Given the description of an element on the screen output the (x, y) to click on. 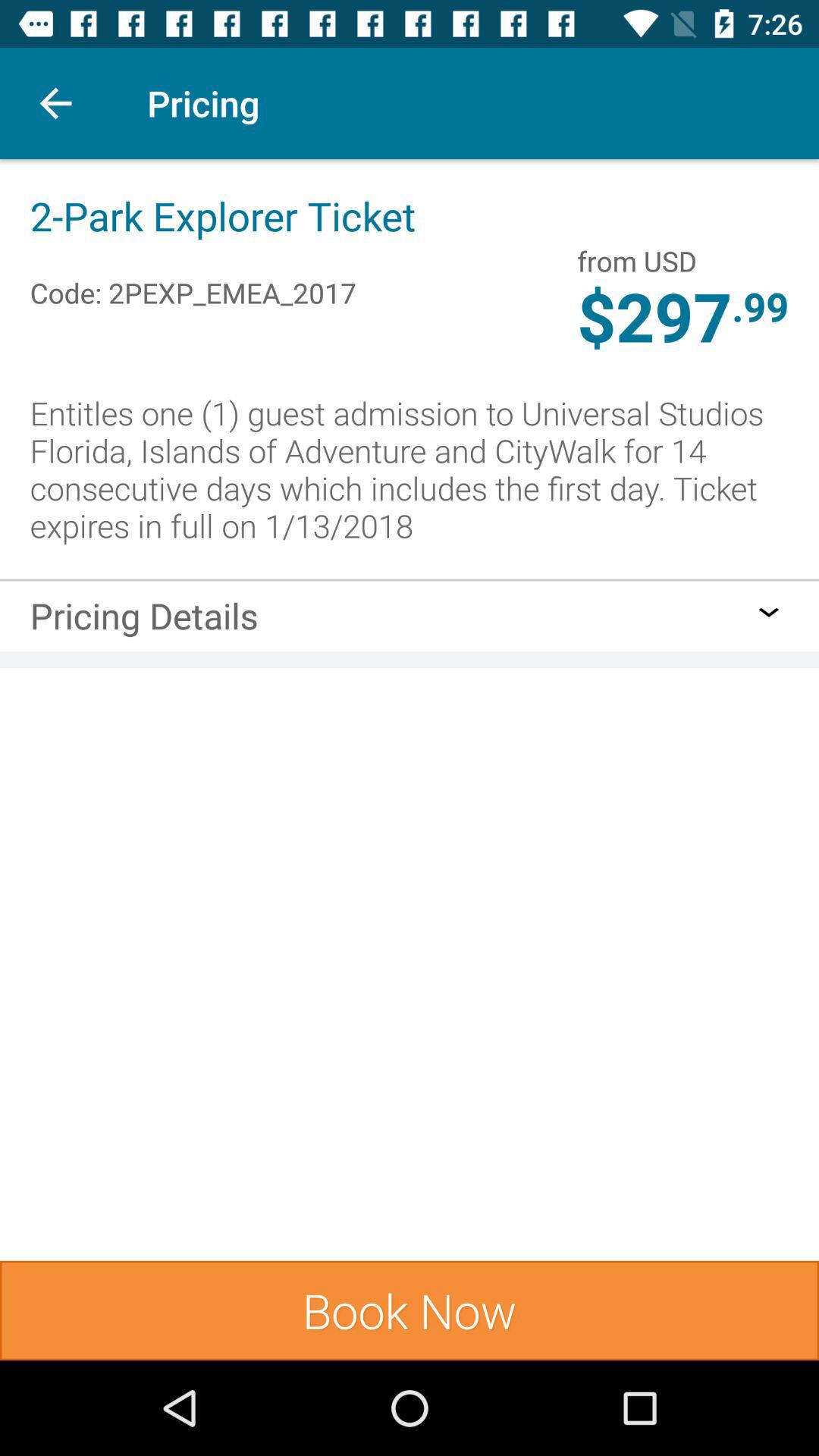
choose the icon next to .99 item (636, 260)
